Given the description of an element on the screen output the (x, y) to click on. 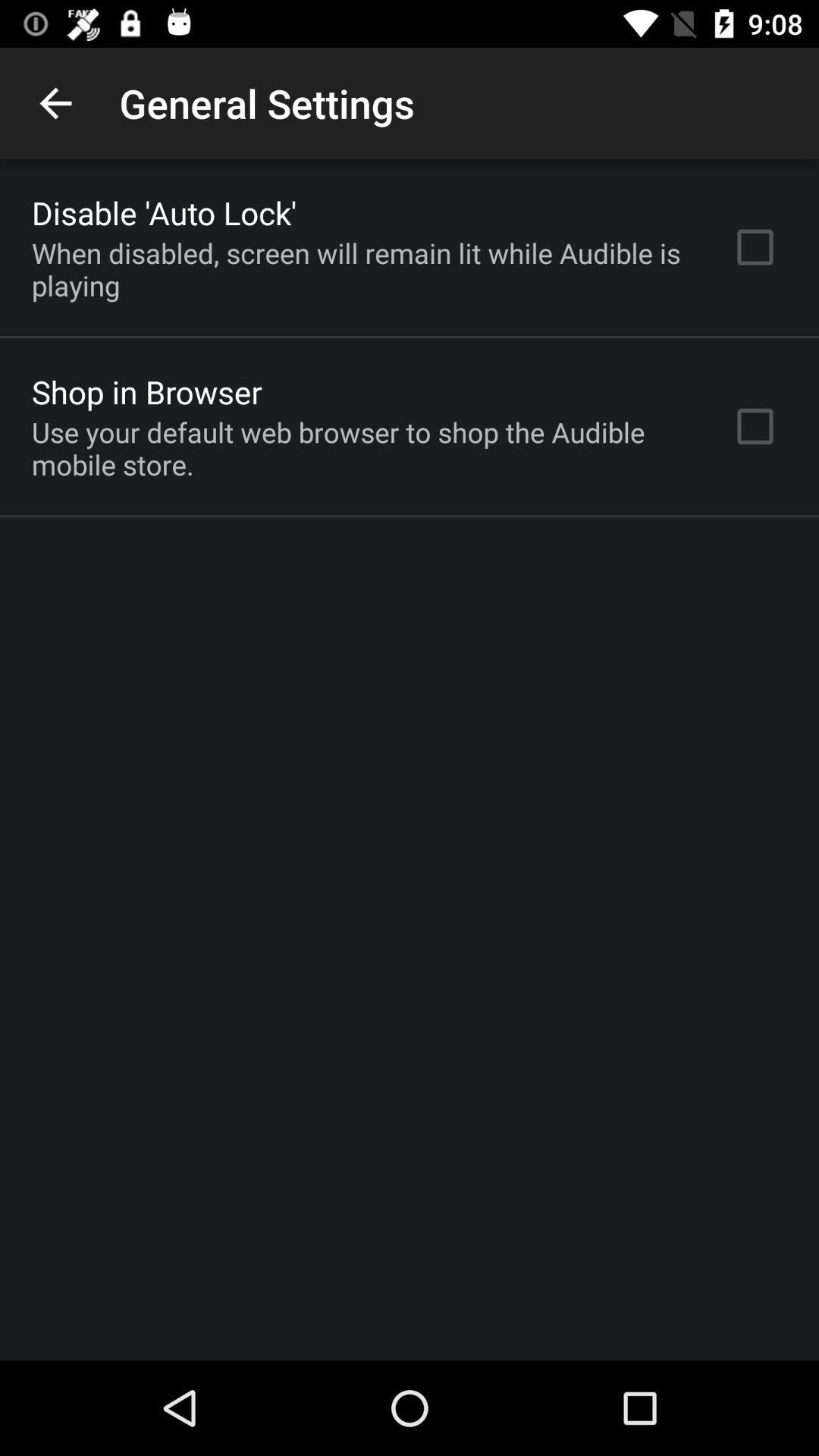
turn off item below the disable 'auto lock' (361, 269)
